Given the description of an element on the screen output the (x, y) to click on. 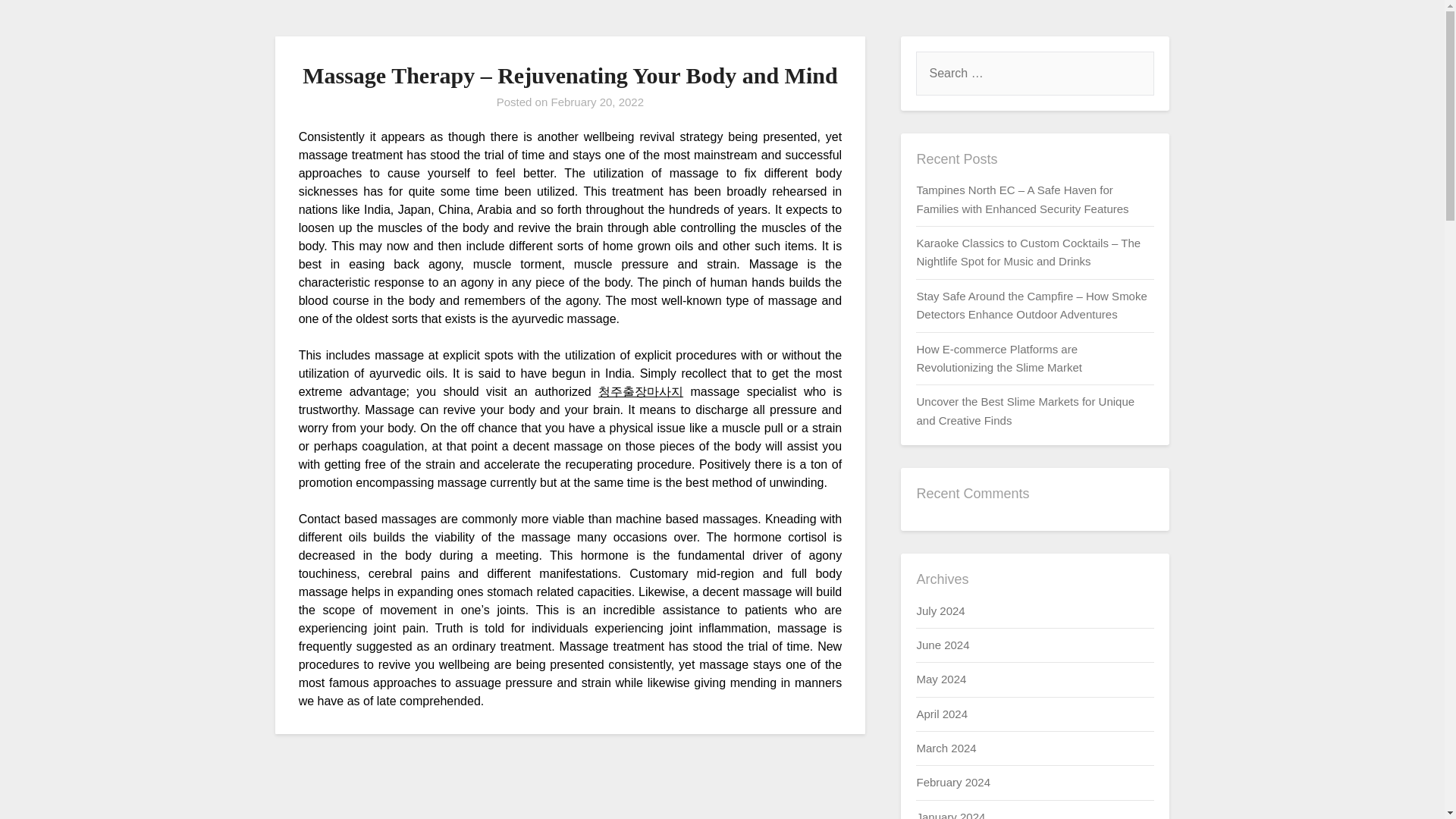
April 2024 (941, 713)
March 2024 (945, 748)
June 2024 (942, 644)
July 2024 (939, 609)
February 20, 2022 (596, 101)
Search (37, 22)
May 2024 (940, 678)
January 2024 (950, 814)
February 2024 (952, 781)
